Given the description of an element on the screen output the (x, y) to click on. 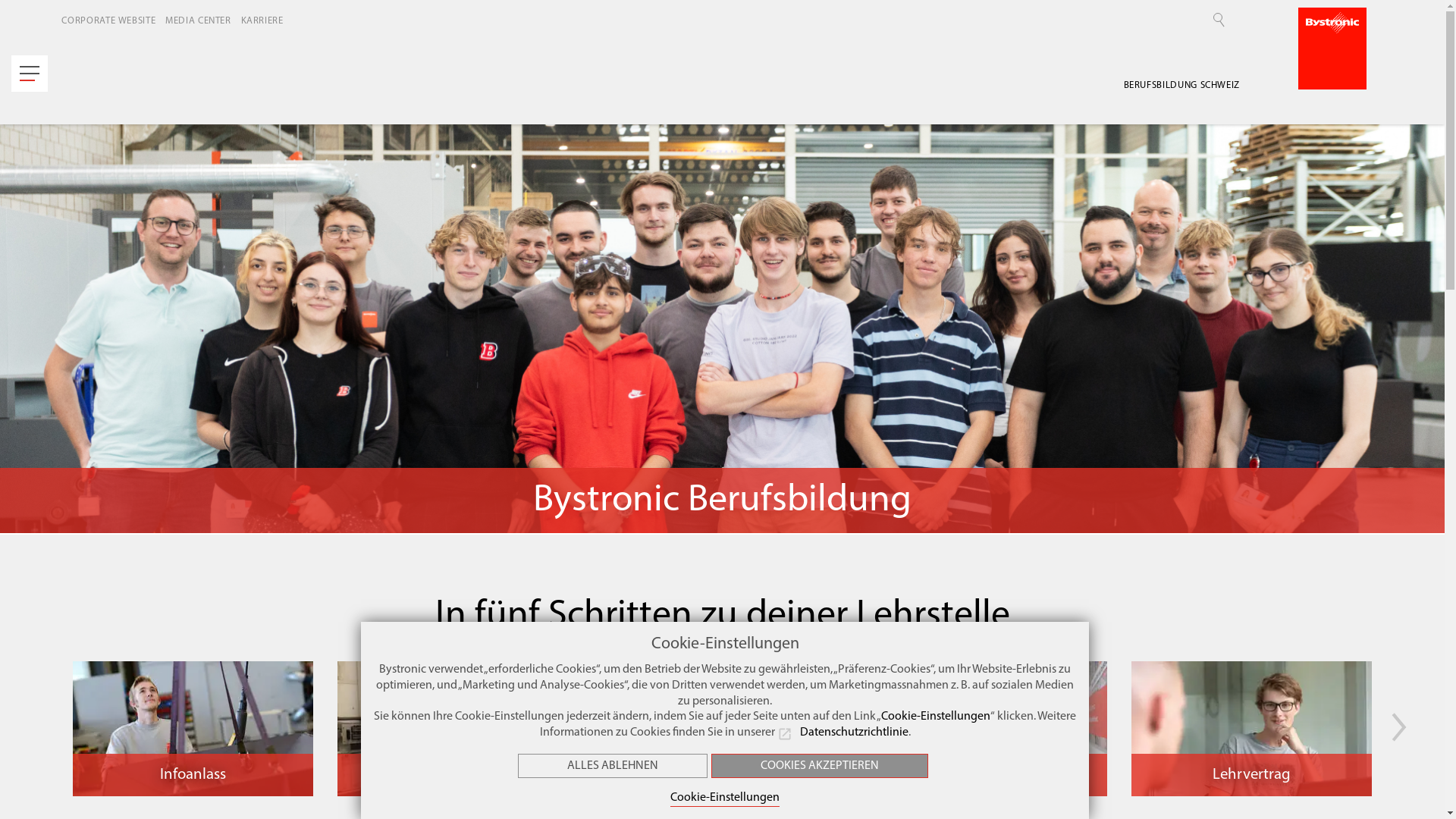
Datenschutzrichtlinie Element type: text (842, 732)
Zur Startseite Element type: hover (1332, 48)
ALLES ABLEHNEN Element type: text (612, 765)
Schnupperlehre Element type: text (457, 728)
COOKIES AKZEPTIEREN Element type: text (819, 765)
MEDIA CENTER Element type: text (197, 20)
CORPORATE WEBSITE Element type: text (108, 20)
KARRIERE Element type: text (265, 20)
Cookie-Einstellungen Element type: text (935, 716)
Cookie-Einstellungen Element type: text (724, 798)
Lehrvertrag Element type: text (1251, 728)
Bewerbung Element type: text (722, 728)
Infoanlass Element type: text (192, 728)
